Given the description of an element on the screen output the (x, y) to click on. 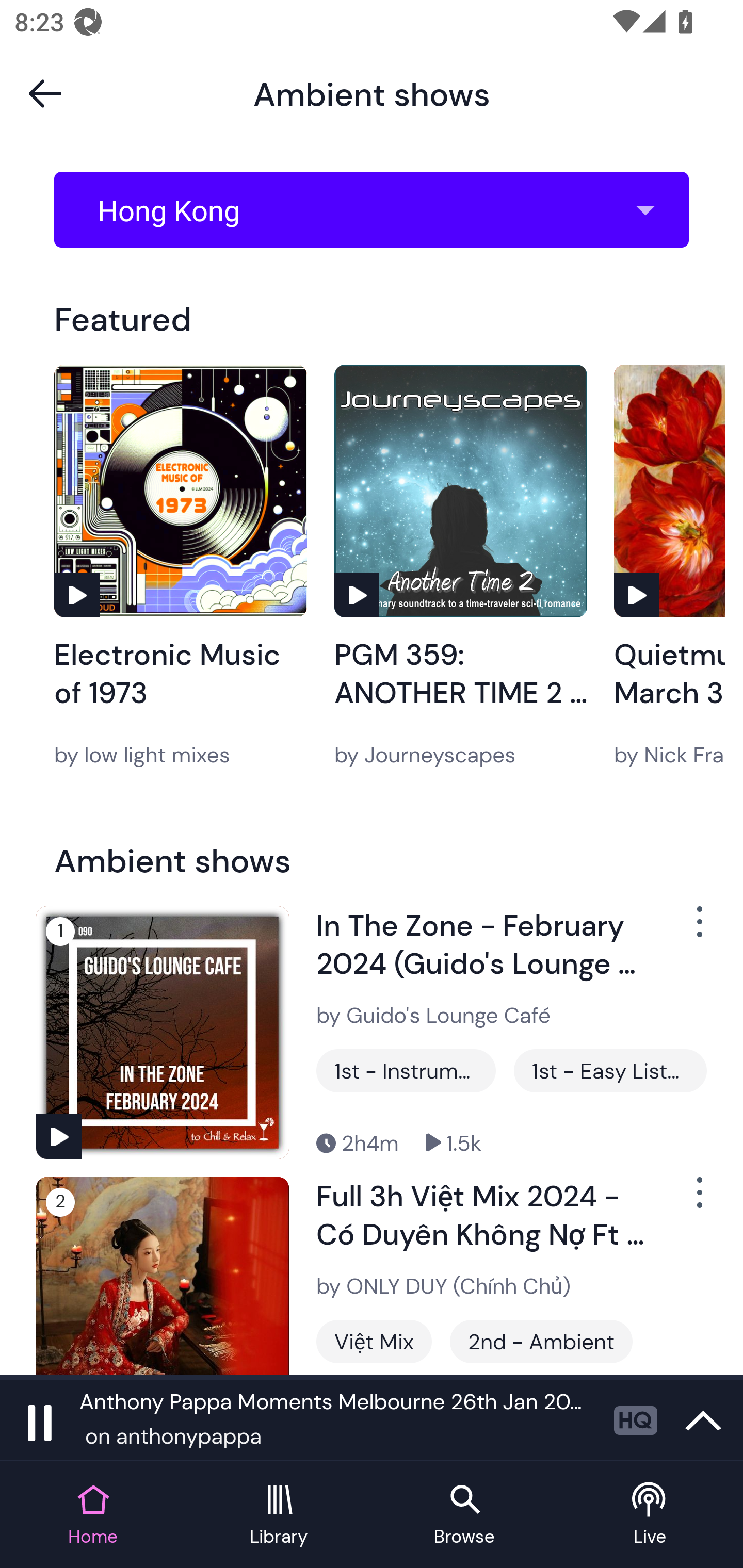
Hong Kong (378, 209)
Show Options Menu Button (697, 929)
1st - Instrumental (405, 1070)
1st - Easy Listening (610, 1070)
Show Options Menu Button (697, 1200)
Việt Mix (373, 1341)
2nd - Ambient (541, 1341)
Home tab Home (92, 1515)
Library tab Library (278, 1515)
Browse tab Browse (464, 1515)
Live tab Live (650, 1515)
